Given the description of an element on the screen output the (x, y) to click on. 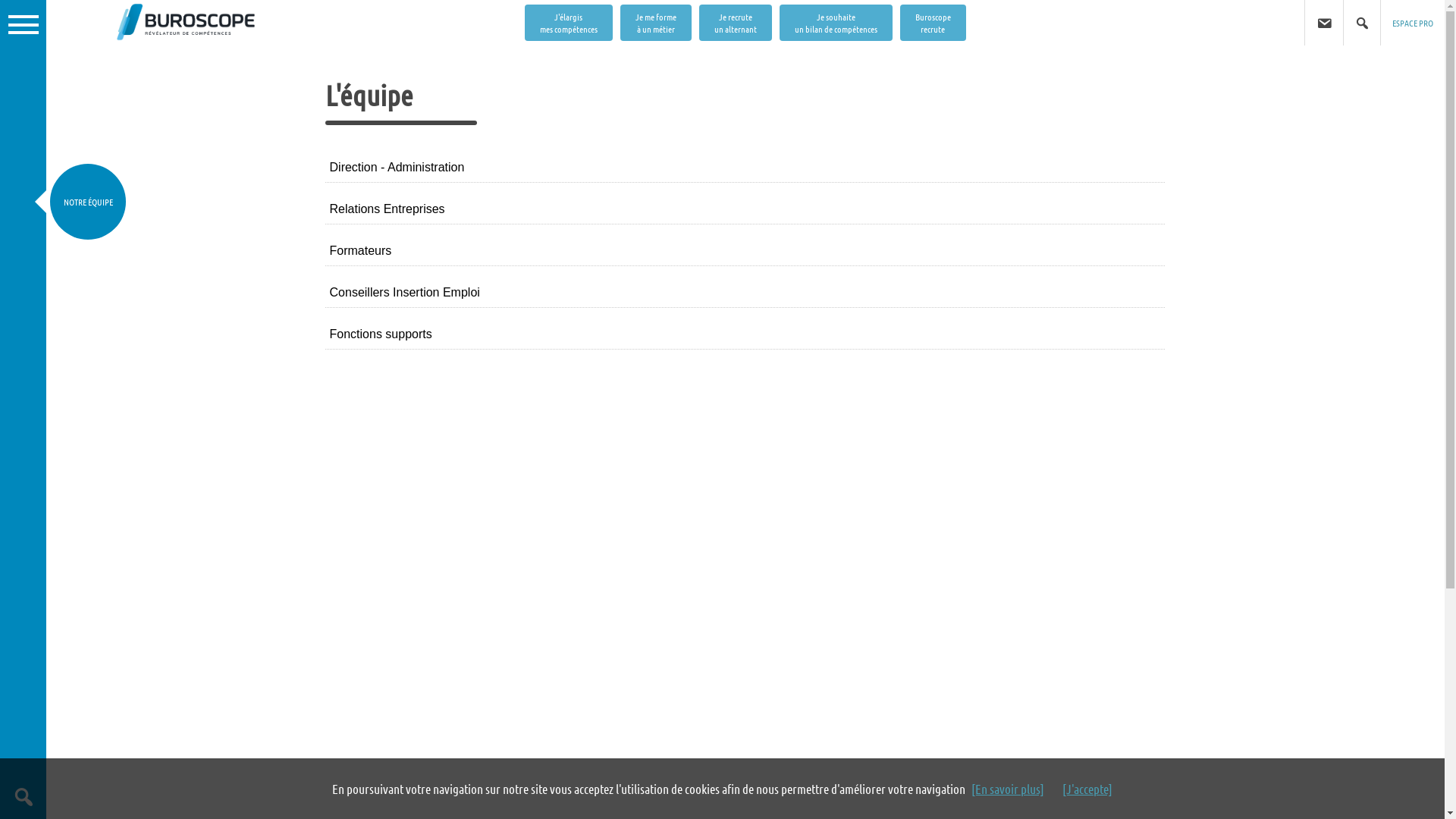
[J'accepte] Element type: text (1087, 788)
Buroscope
recrute Element type: text (932, 22)
ESPACE PRO Element type: text (1412, 22)
Je recrute
un alternant Element type: text (735, 22)
[En savoir plus] Element type: text (1007, 788)
